Given the description of an element on the screen output the (x, y) to click on. 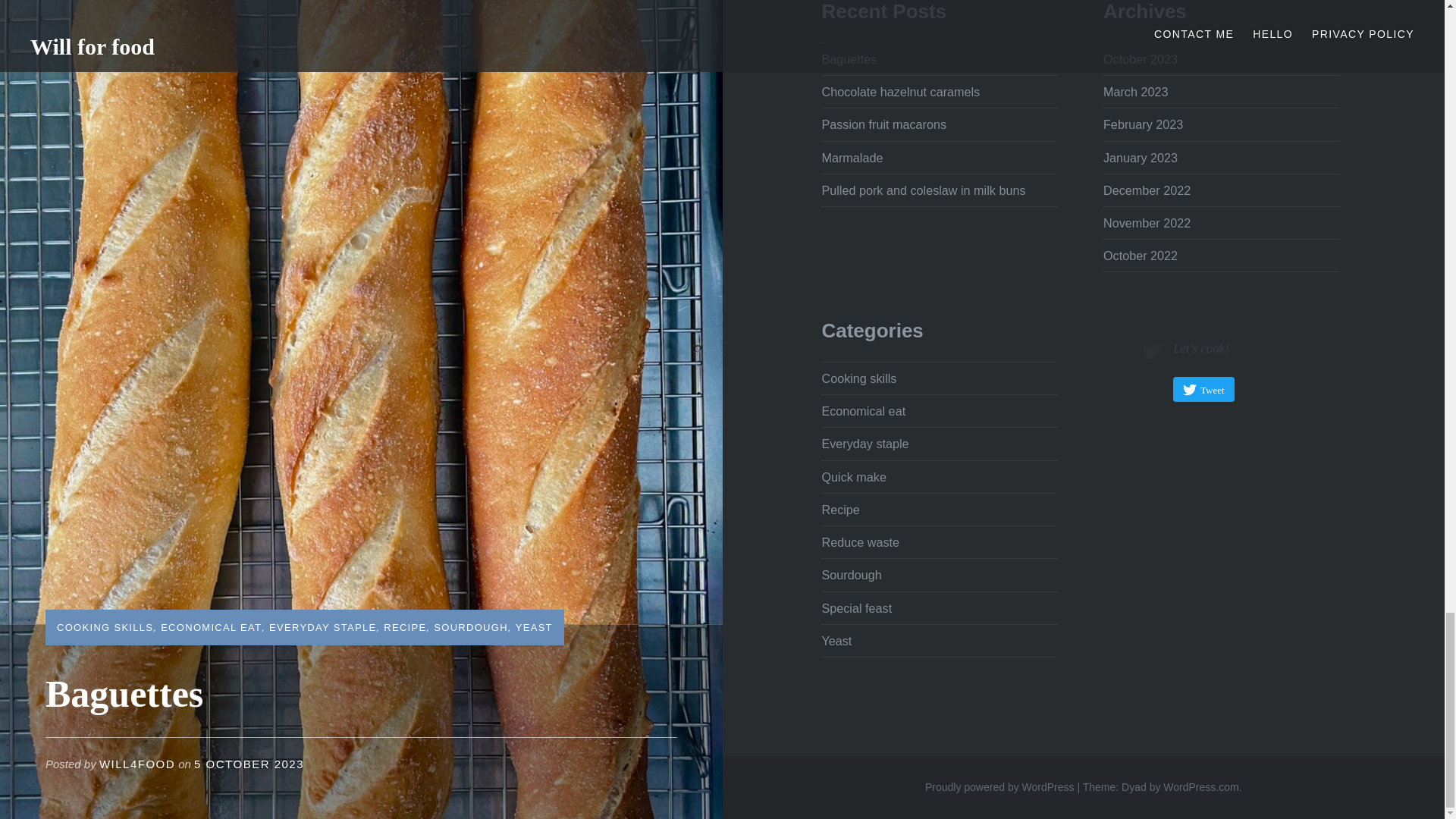
Economical eat (863, 410)
October 2022 (1140, 255)
February 2023 (1142, 124)
Cooking skills (858, 377)
Recipe (840, 509)
Baguettes (848, 59)
March 2023 (1135, 91)
December 2022 (1147, 190)
Quick make (853, 477)
Passion fruit macarons (883, 124)
January 2023 (1140, 156)
Marmalade (851, 156)
Everyday staple (864, 443)
Pulled pork and coleslaw in milk buns (923, 190)
November 2022 (1147, 223)
